Given the description of an element on the screen output the (x, y) to click on. 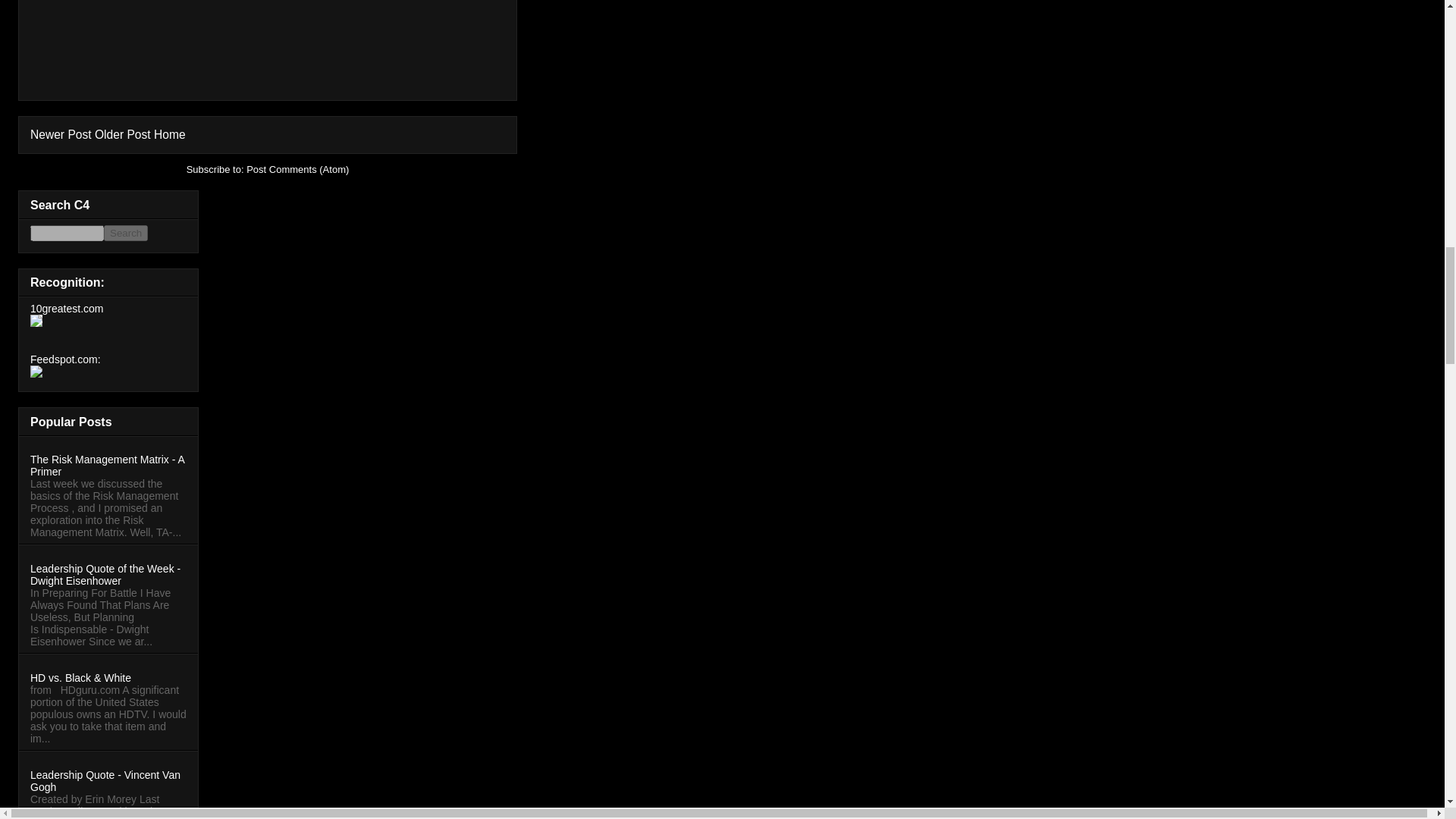
Search (125, 232)
Search (125, 232)
